Given the description of an element on the screen output the (x, y) to click on. 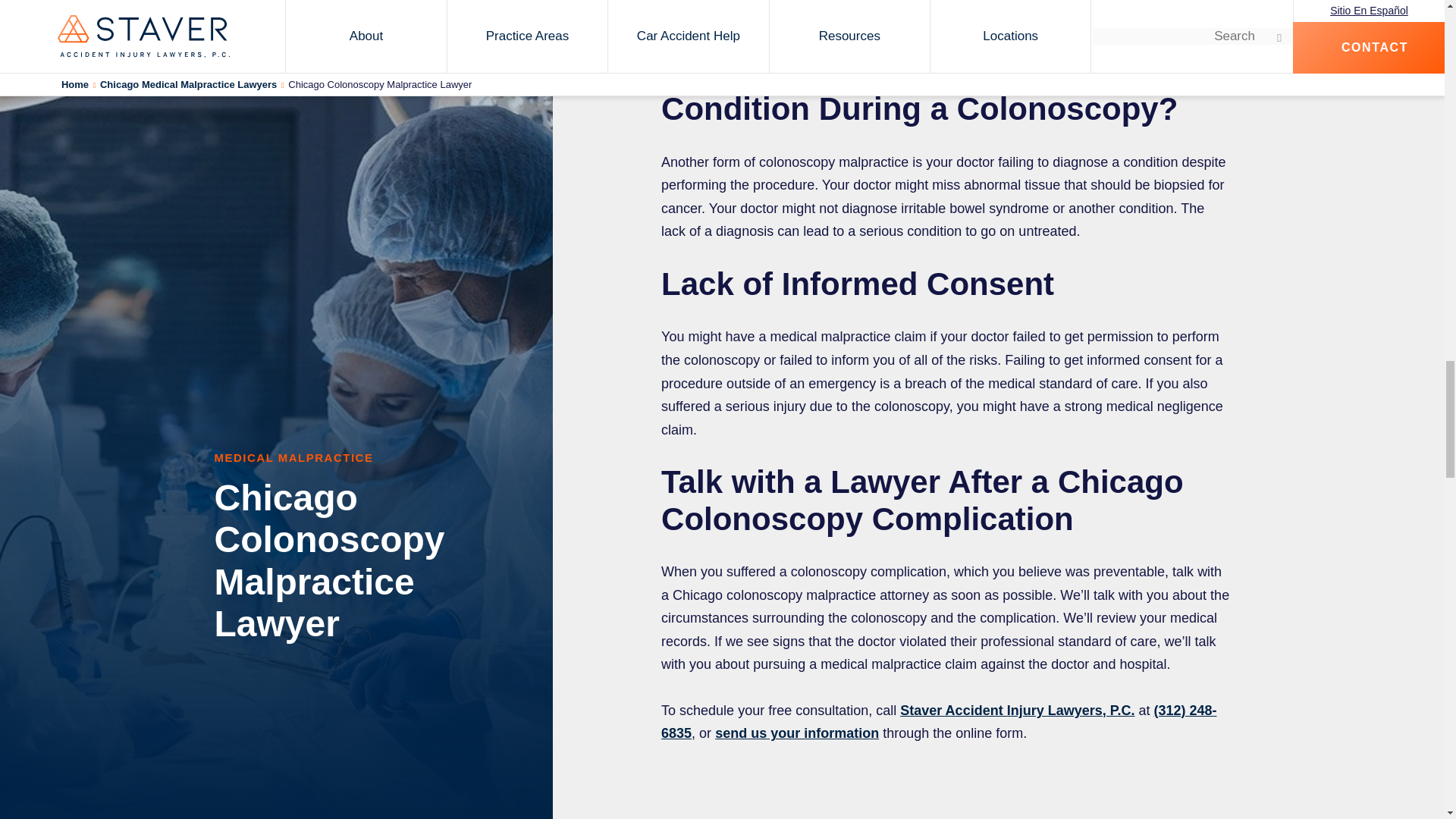
Contact Staver Accident Injury Lawyers - Today (796, 733)
Chicago Personal Injury Law Firm (1016, 710)
Call Staver Accident Injury Lawyers - Today (938, 722)
